Given the description of an element on the screen output the (x, y) to click on. 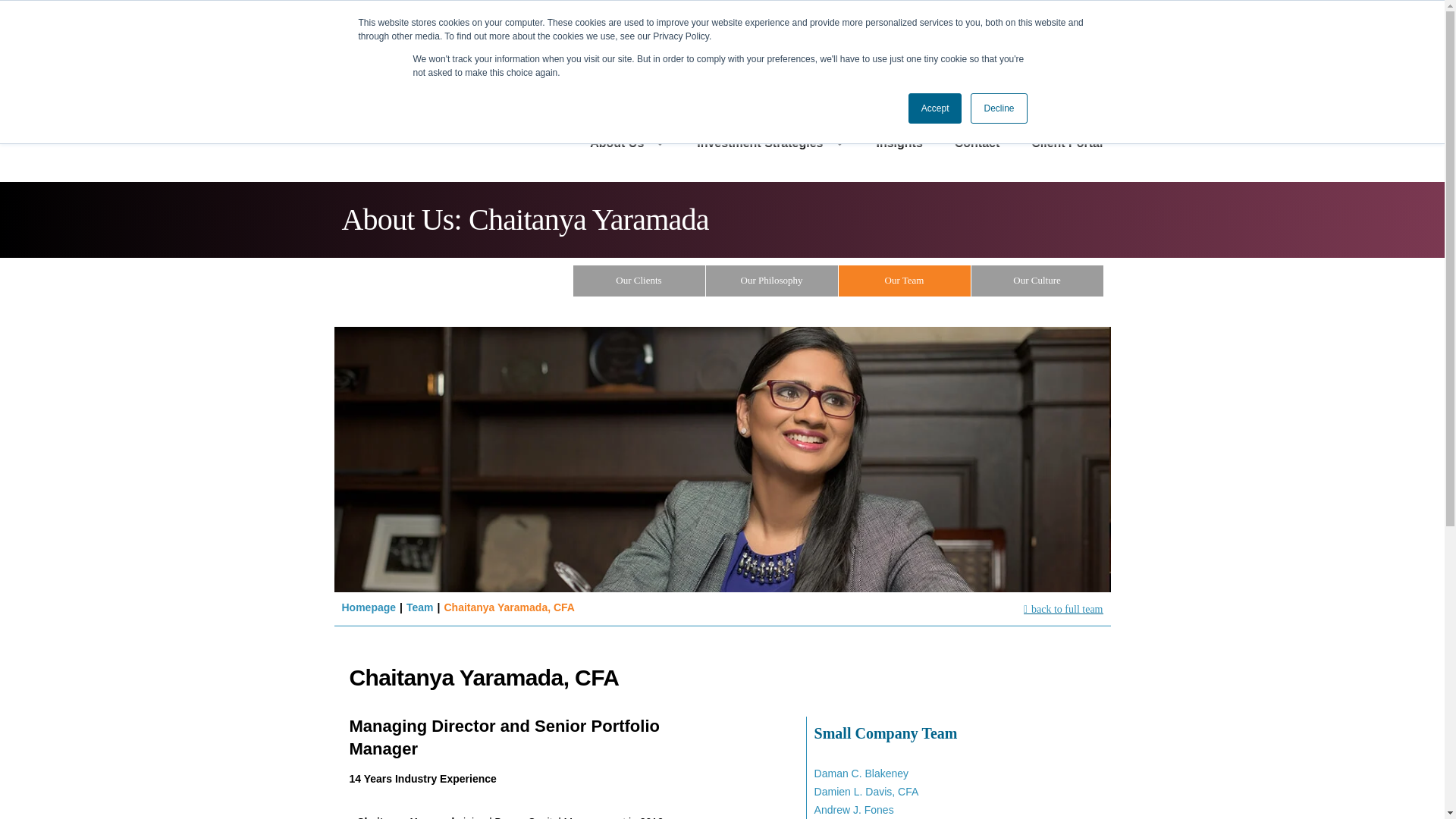
Team (419, 607)
About Us (627, 142)
Client Portal (1066, 142)
Homepage (368, 607)
Accept (935, 108)
back to full team (1063, 609)
Our Team (904, 280)
Investment Strategies (770, 142)
Our Philosophy (770, 280)
Andrew J. Fones (853, 809)
Team (419, 607)
Decline (998, 108)
Damien L. Davis, CFA (865, 791)
Daman C. Blakeney (860, 773)
Our Culture (1036, 280)
